Given the description of an element on the screen output the (x, y) to click on. 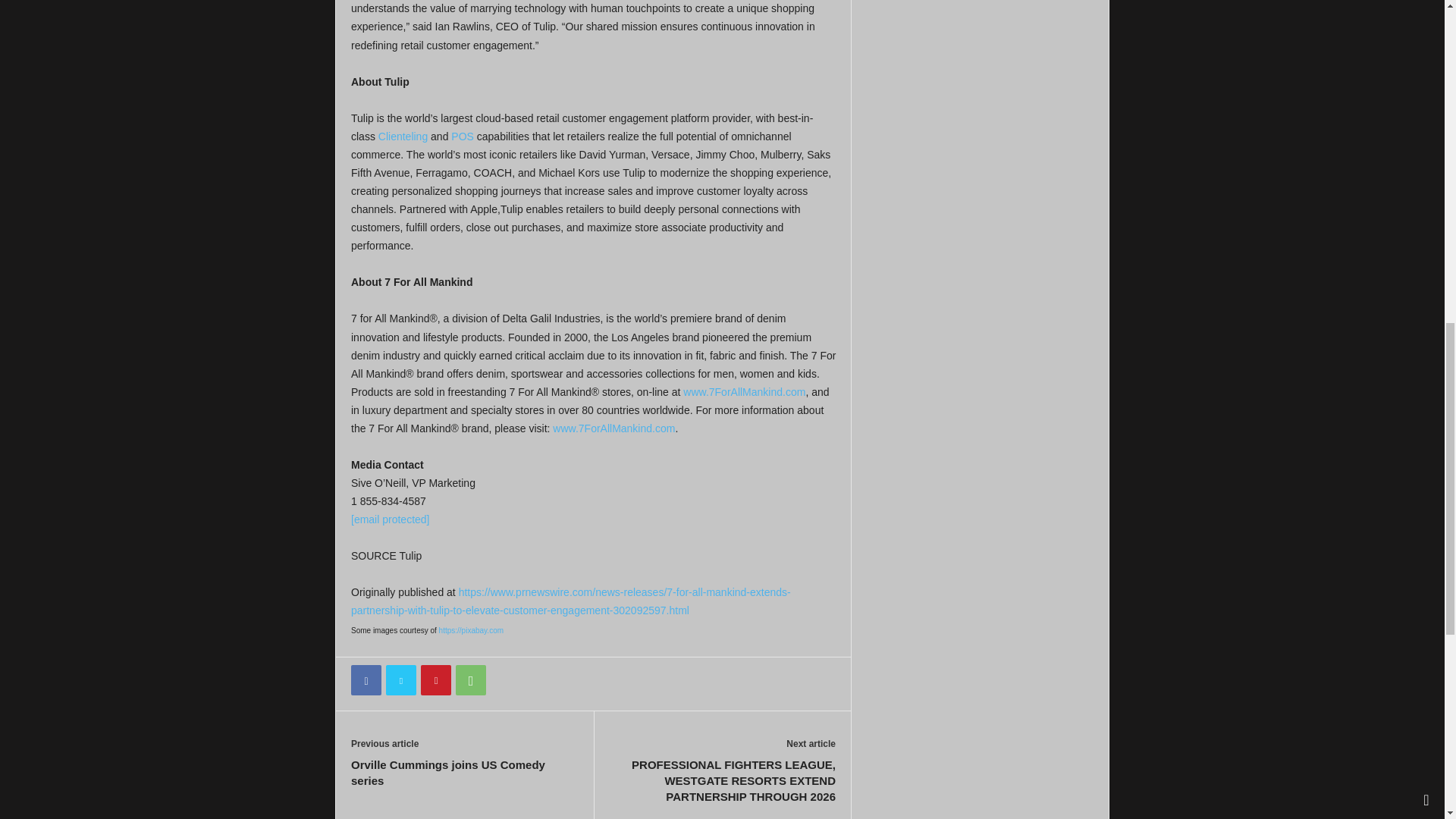
Twitter (400, 680)
Pinterest (435, 680)
Clienteling (403, 136)
POS (462, 136)
www.7ForAllMankind.com (614, 428)
www.7ForAllMankind.com (743, 391)
Facebook (365, 680)
